Given the description of an element on the screen output the (x, y) to click on. 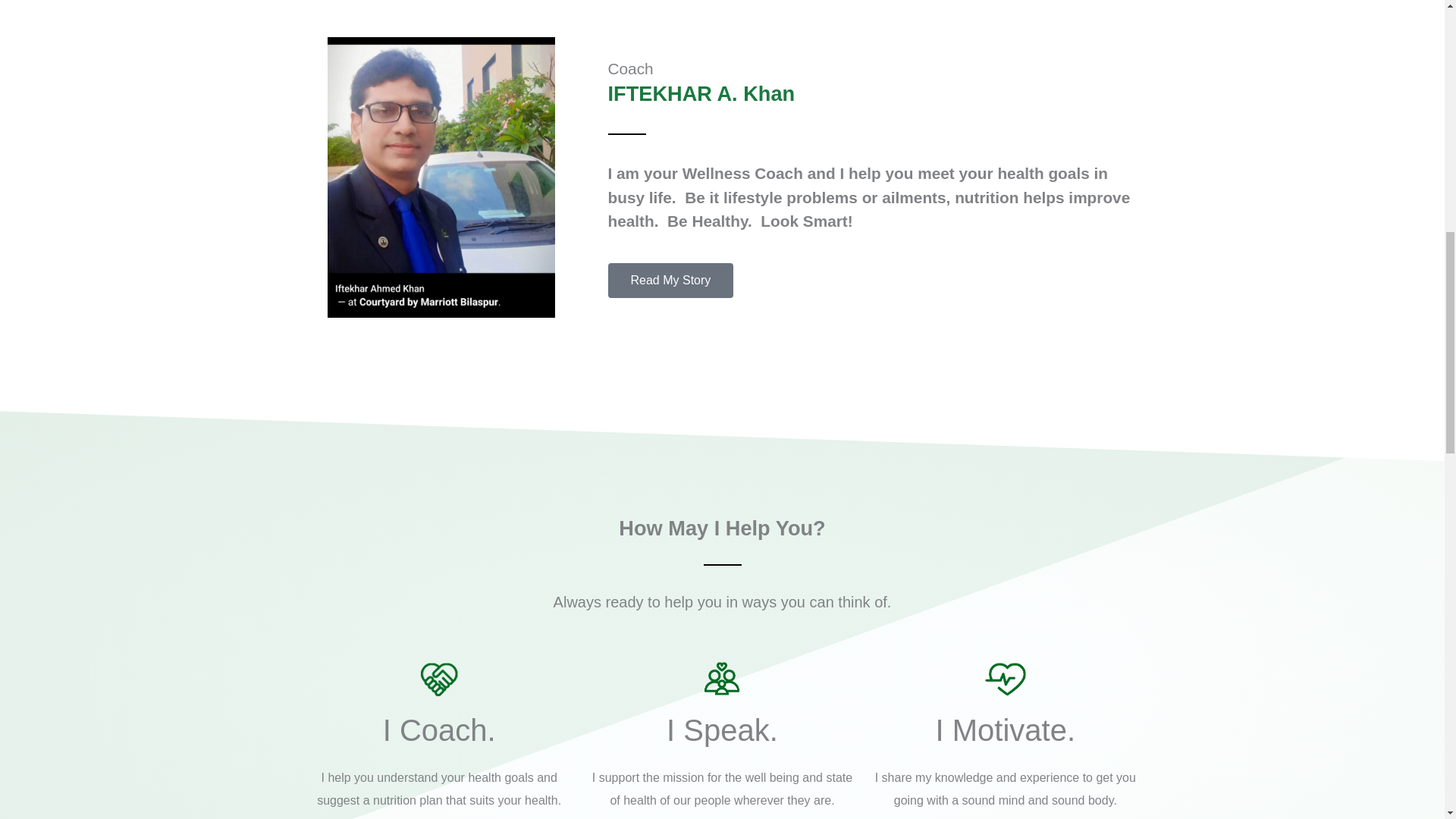
icon03-free-img.png (1004, 678)
icon02-free-img.png (721, 678)
icon01-free-img.png (438, 678)
Read My Story (670, 280)
